Given the description of an element on the screen output the (x, y) to click on. 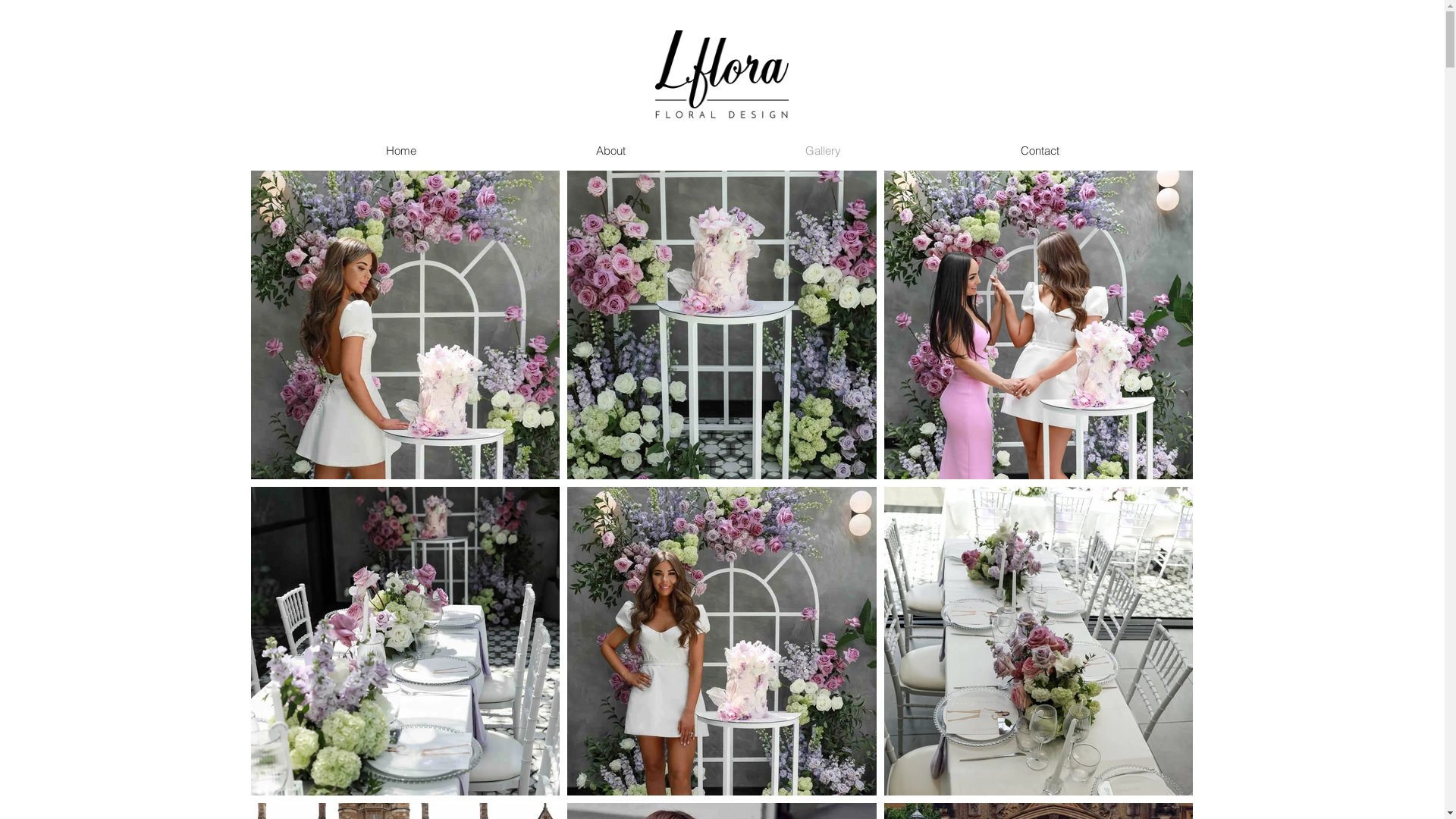
Home Element type: text (400, 150)
About Element type: text (610, 150)
Gallery Element type: text (823, 150)
Contact Element type: text (1040, 150)
